Given the description of an element on the screen output the (x, y) to click on. 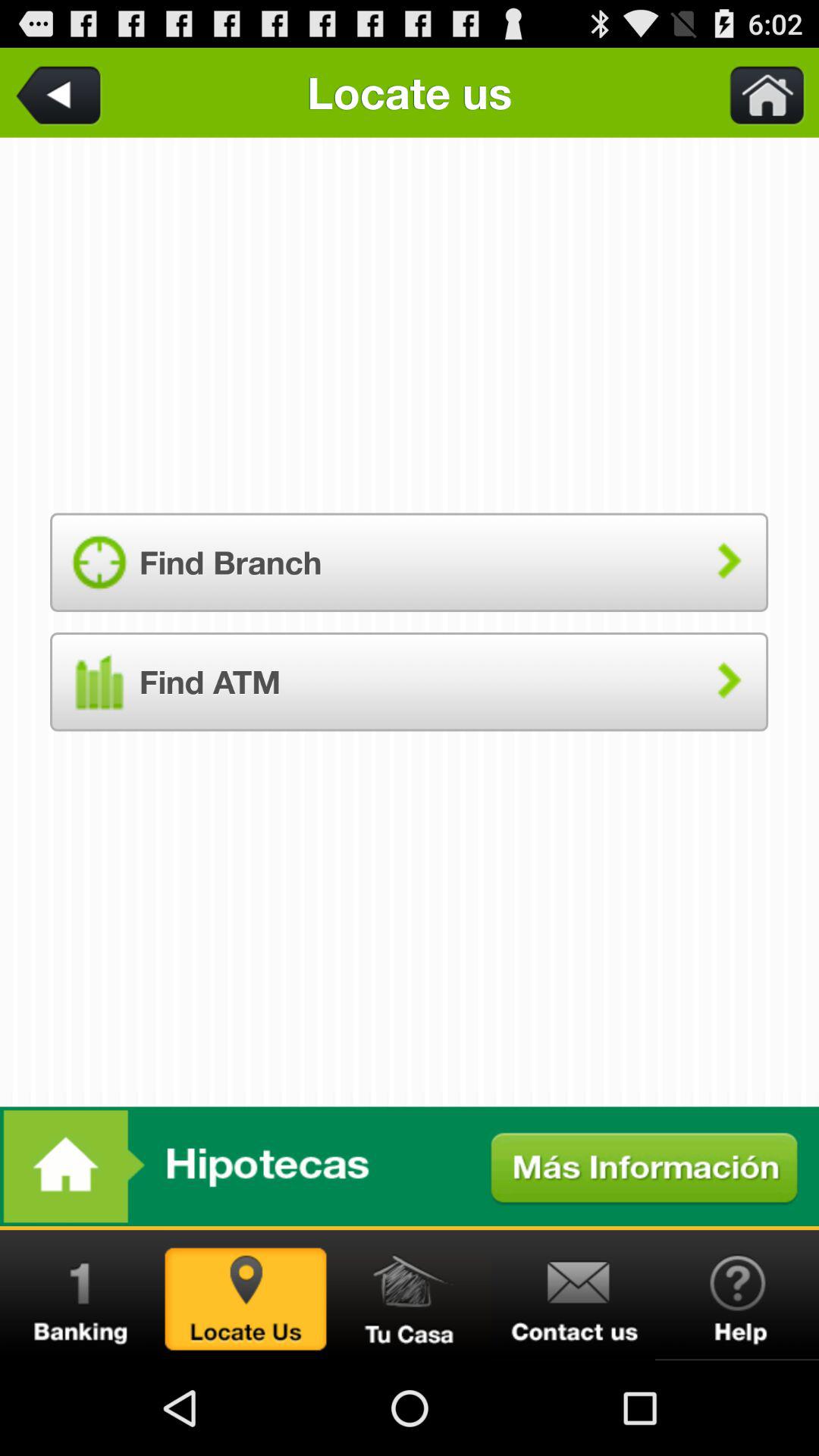
go back (61, 92)
